Given the description of an element on the screen output the (x, y) to click on. 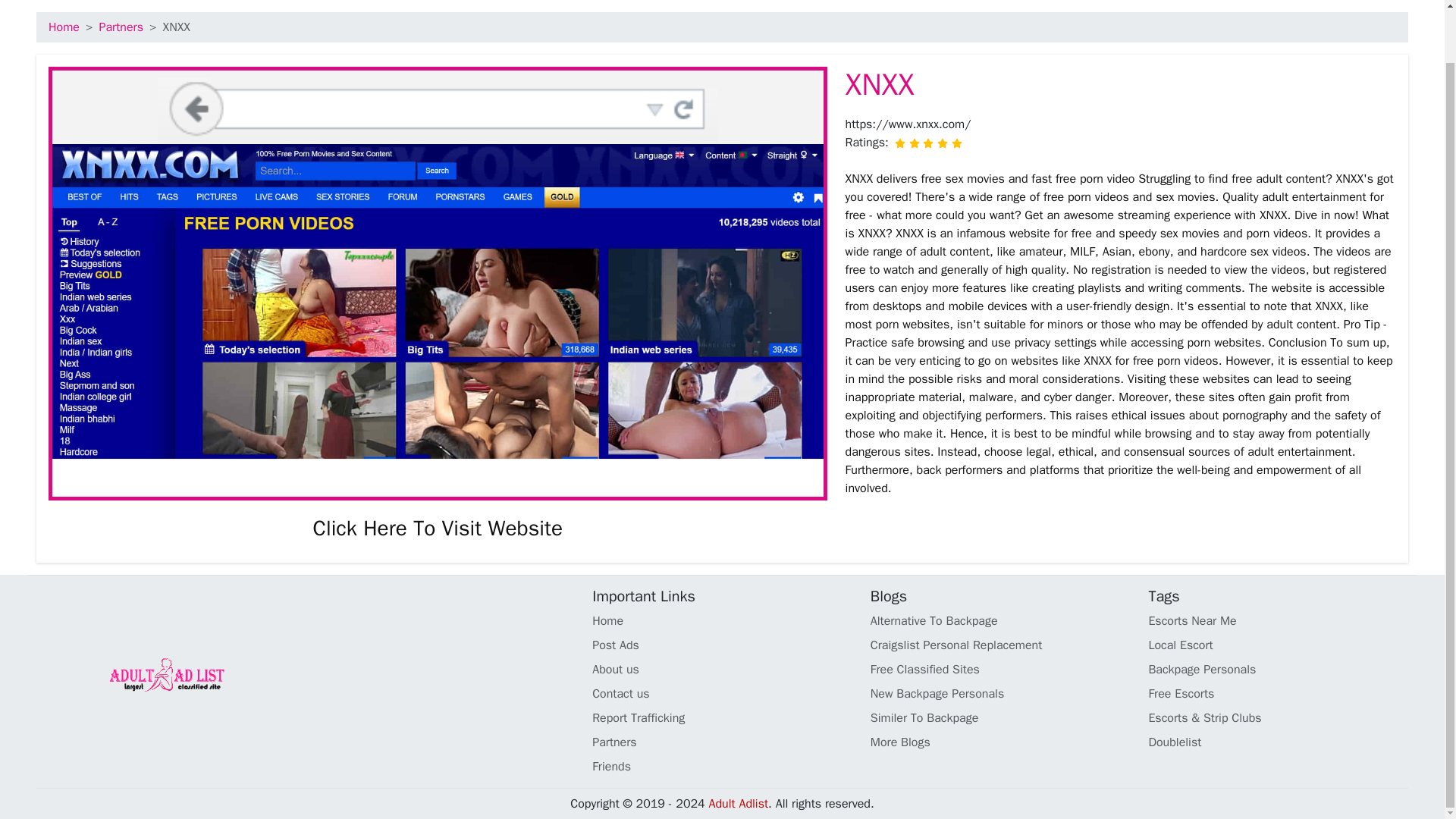
Craigslist Personal Replacement (1000, 645)
Free Classified Sites (1000, 669)
Partners (120, 27)
Local Escort (1277, 645)
Friends (721, 766)
More Blogs (1000, 742)
About us (721, 669)
Backpage Personals (1277, 669)
Contact us (721, 693)
Partners (721, 742)
Escorts Near Me (1277, 620)
Similer To Backpage (1000, 718)
Post Ads (721, 645)
Click Here To Visit Website (437, 528)
Doublelist (1277, 742)
